Given the description of an element on the screen output the (x, y) to click on. 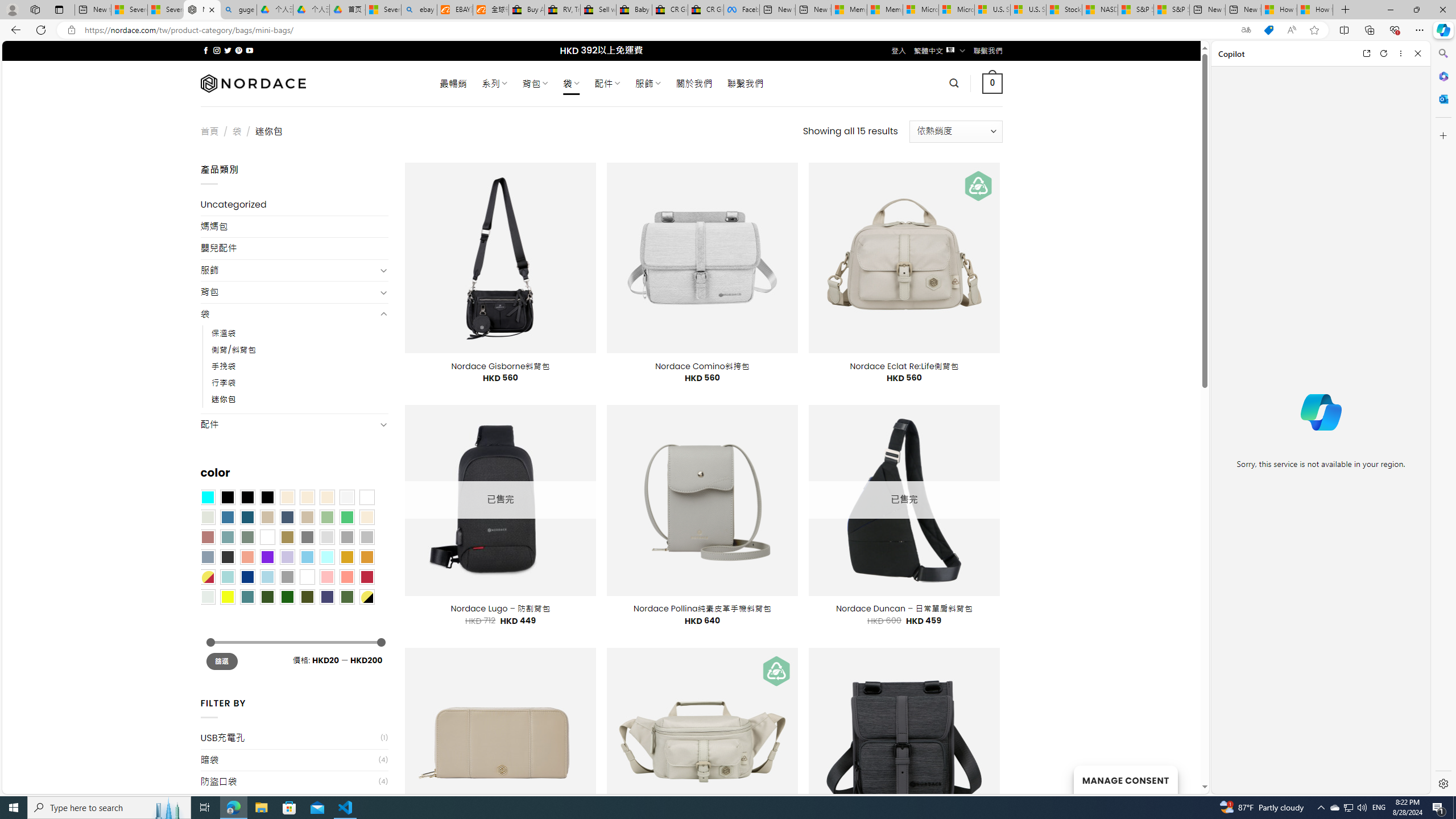
MANAGE CONSENT (1125, 779)
S&P 500, Nasdaq end lower, weighed by Nvidia dip | Watch (1170, 9)
Outlook (1442, 98)
Customize (1442, 135)
